Given the description of an element on the screen output the (x, y) to click on. 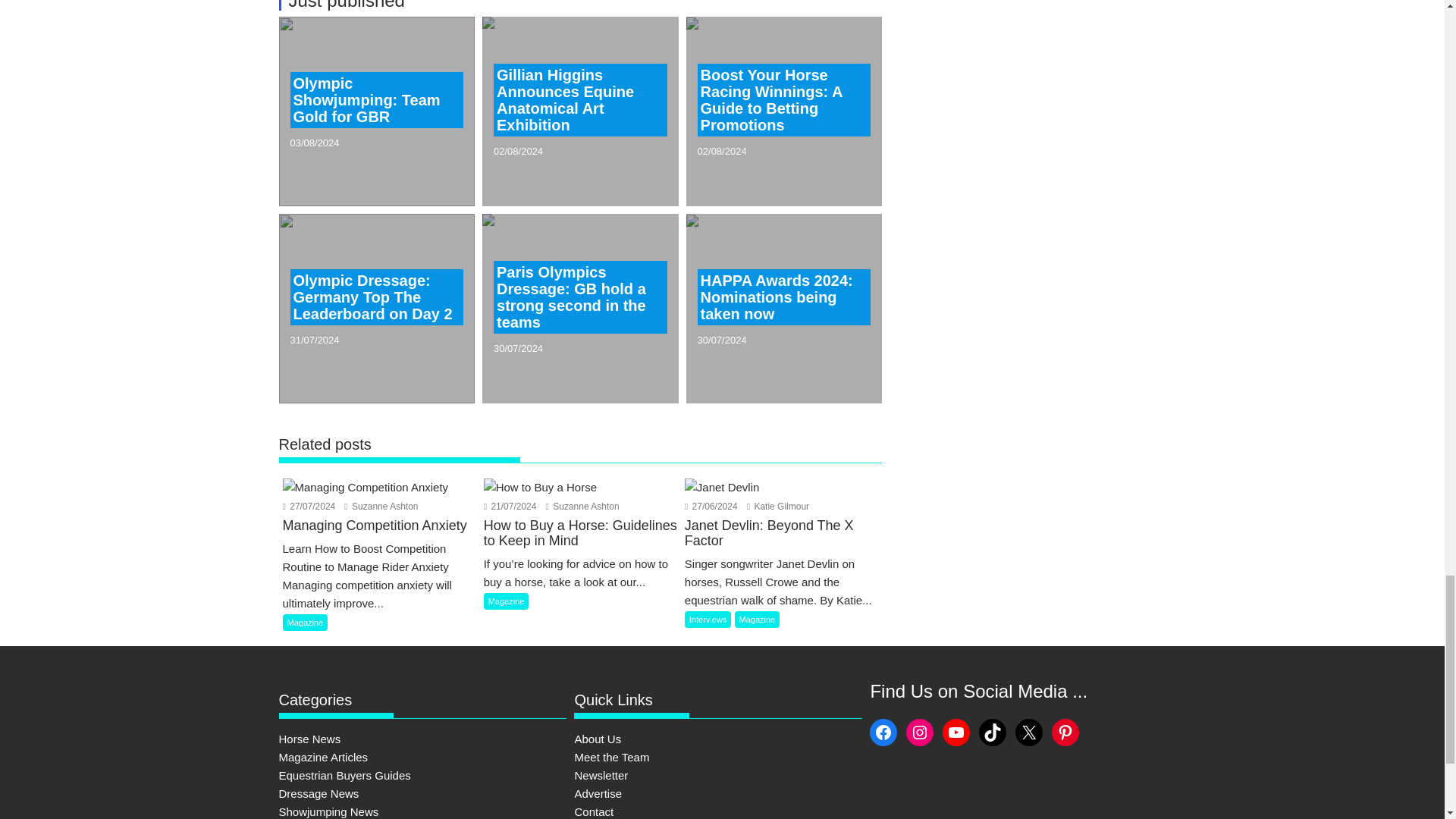
Suzanne Ashton (380, 506)
Suzanne Ashton (583, 506)
Katie Gilmour (777, 506)
